Given the description of an element on the screen output the (x, y) to click on. 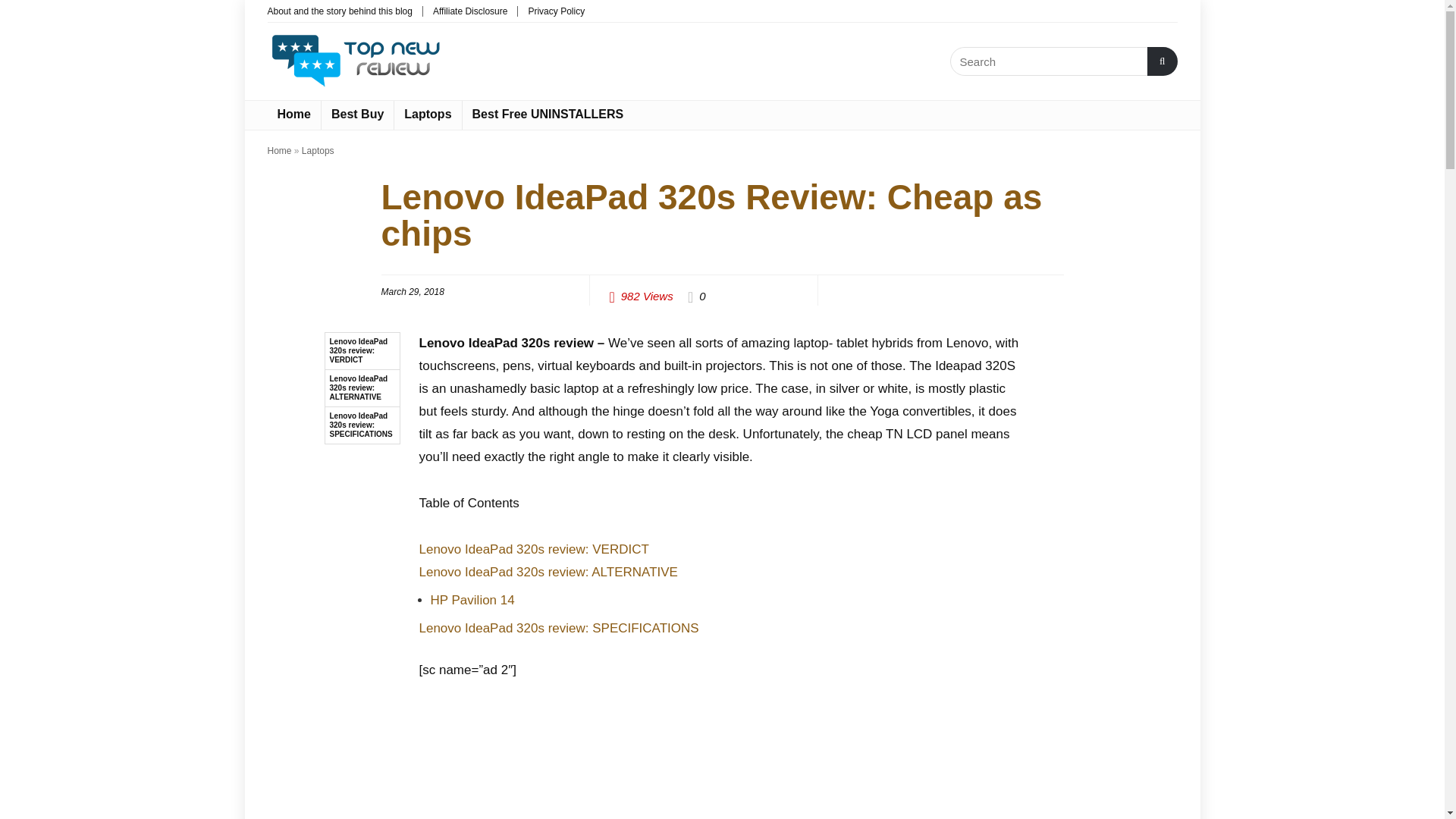
Lenovo IdeaPad 320s review: ALTERNATIVE (548, 572)
Lenovo IdeaPad 320s review: VERDICT (533, 549)
Home (293, 114)
Affiliate Disclosure (469, 10)
HP Pavilion 14 (472, 599)
Lenovo IdeaPad 320s review: ALTERNATIVE (361, 388)
Laptops (427, 114)
Best Buy (357, 114)
Home (278, 150)
Privacy Policy (556, 10)
